Given the description of an element on the screen output the (x, y) to click on. 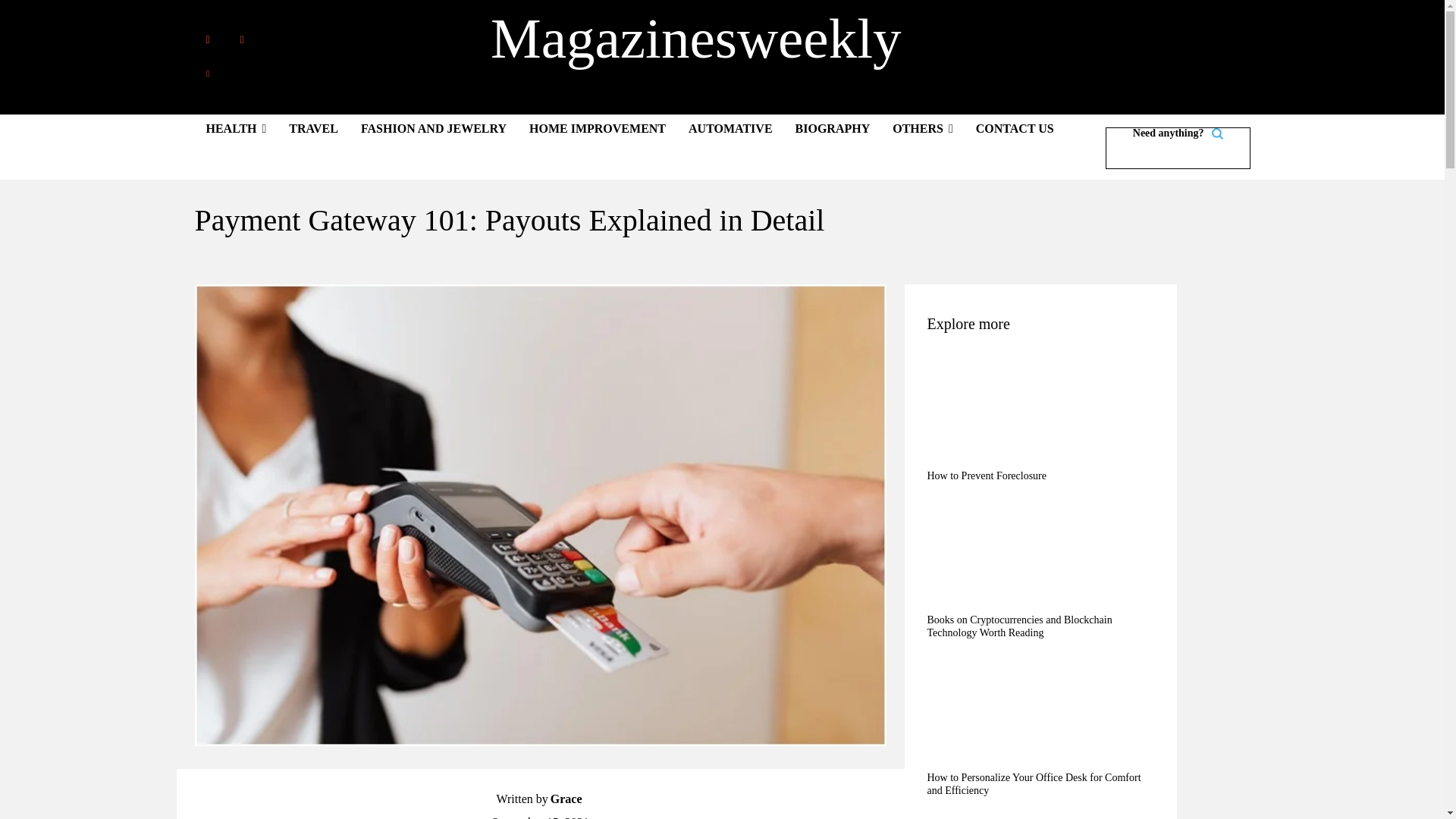
Instagram (242, 39)
HEALTH (235, 128)
Magazinesweekly (695, 38)
TRAVEL (313, 128)
BIOGRAPHY (833, 128)
Twitter (207, 73)
CONTACT US (1014, 128)
OTHERS (921, 128)
FASHION AND JEWELRY (433, 128)
